Given the description of an element on the screen output the (x, y) to click on. 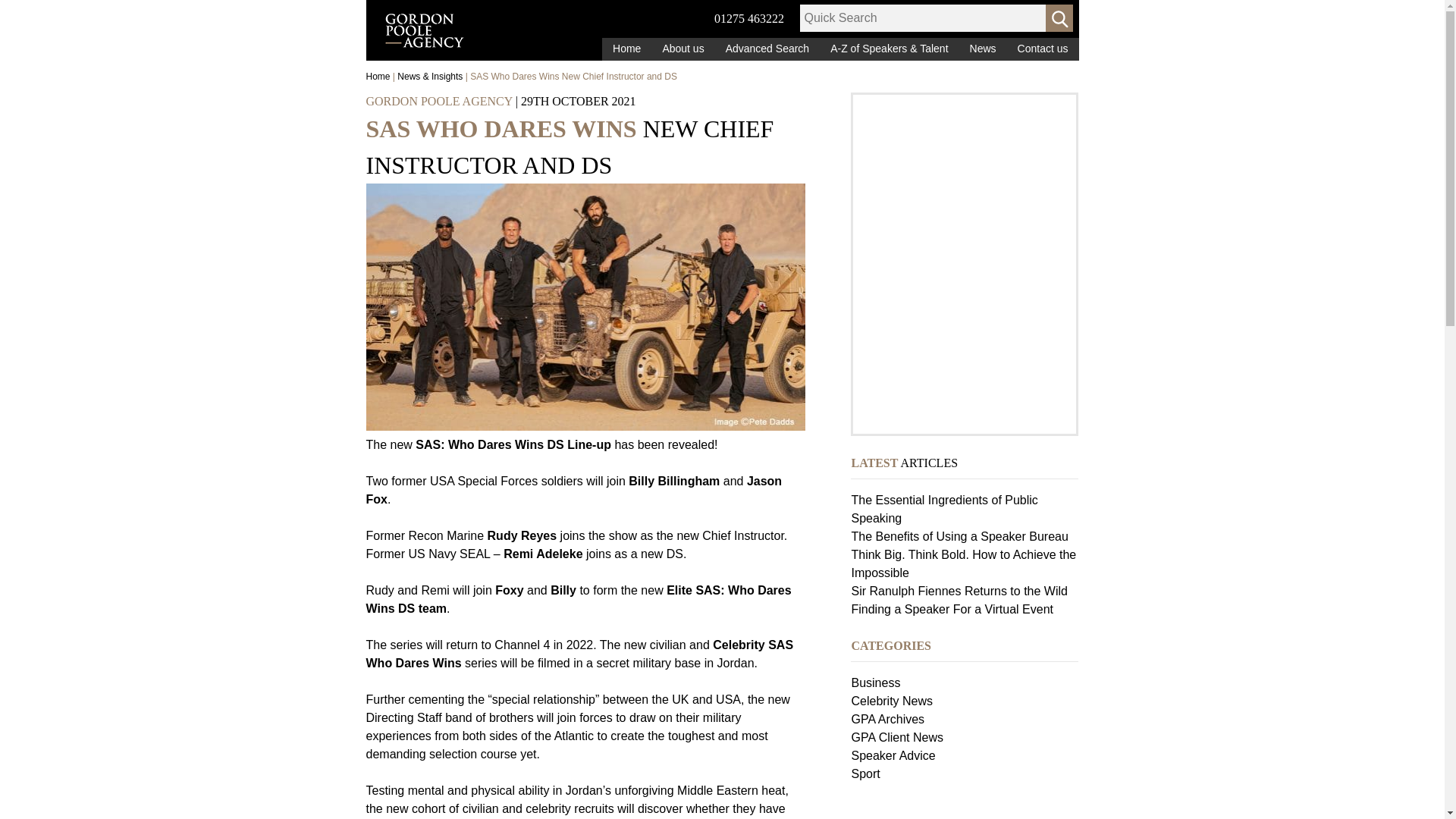
Search (1058, 17)
View our Agency Contact Details (1042, 48)
Search for a Speaker for your Live or Virtual Event (767, 48)
Read about our Speaker Bureau and Talent Agency (682, 48)
Home (626, 48)
UK Speaker Bureau News (983, 48)
Search (1058, 17)
View All Speakers and Talent (888, 48)
01275 463222 (748, 18)
